Given the description of an element on the screen output the (x, y) to click on. 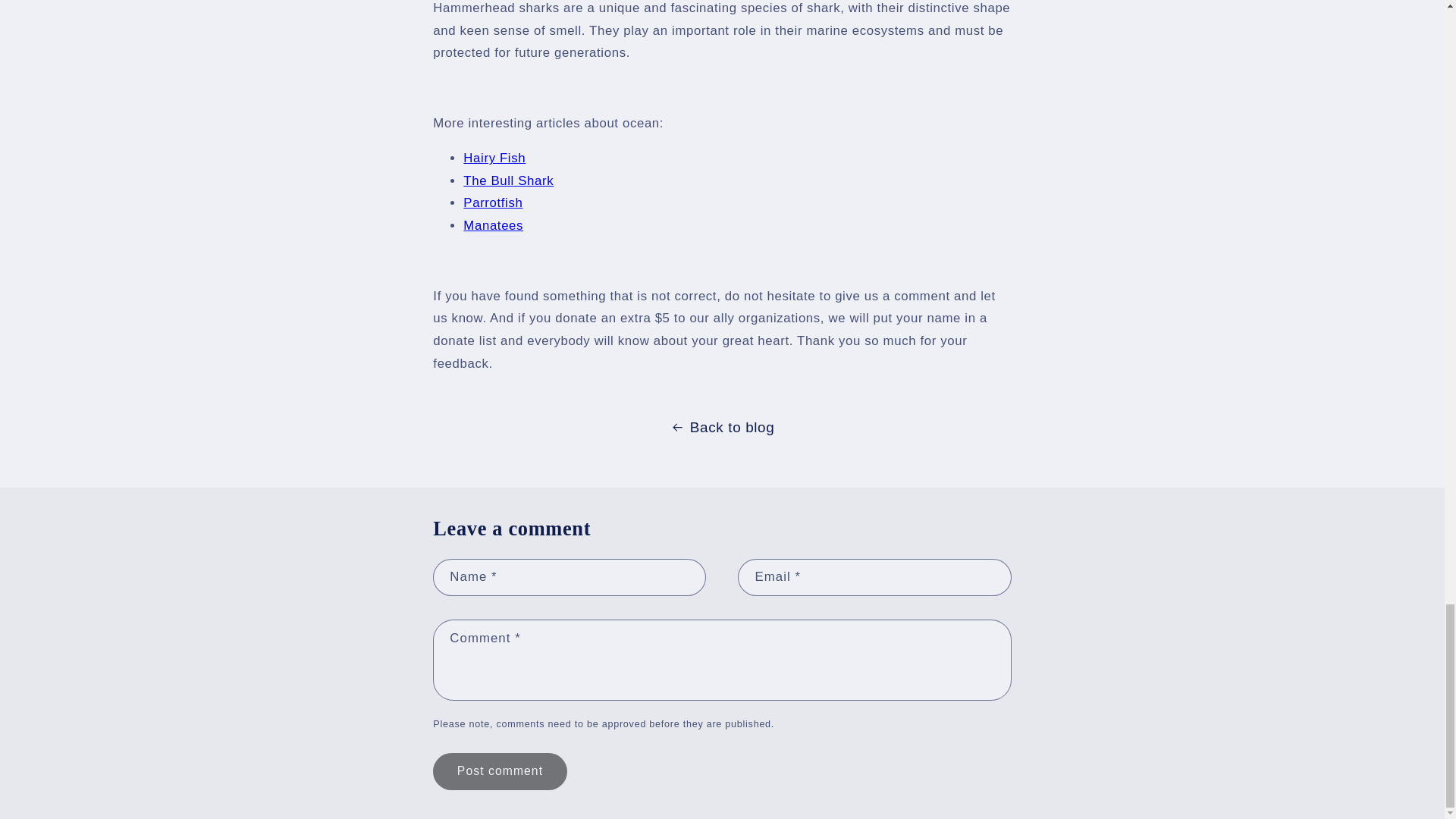
Manatees (492, 225)
The Bull Shark (508, 180)
Post comment (499, 771)
Parrotfish (492, 202)
Parrotfish (492, 202)
Hairy Fish (494, 157)
The Bull Shark (508, 180)
Whale shark (492, 225)
Hairy Fish (494, 157)
Post comment (499, 771)
